Given the description of an element on the screen output the (x, y) to click on. 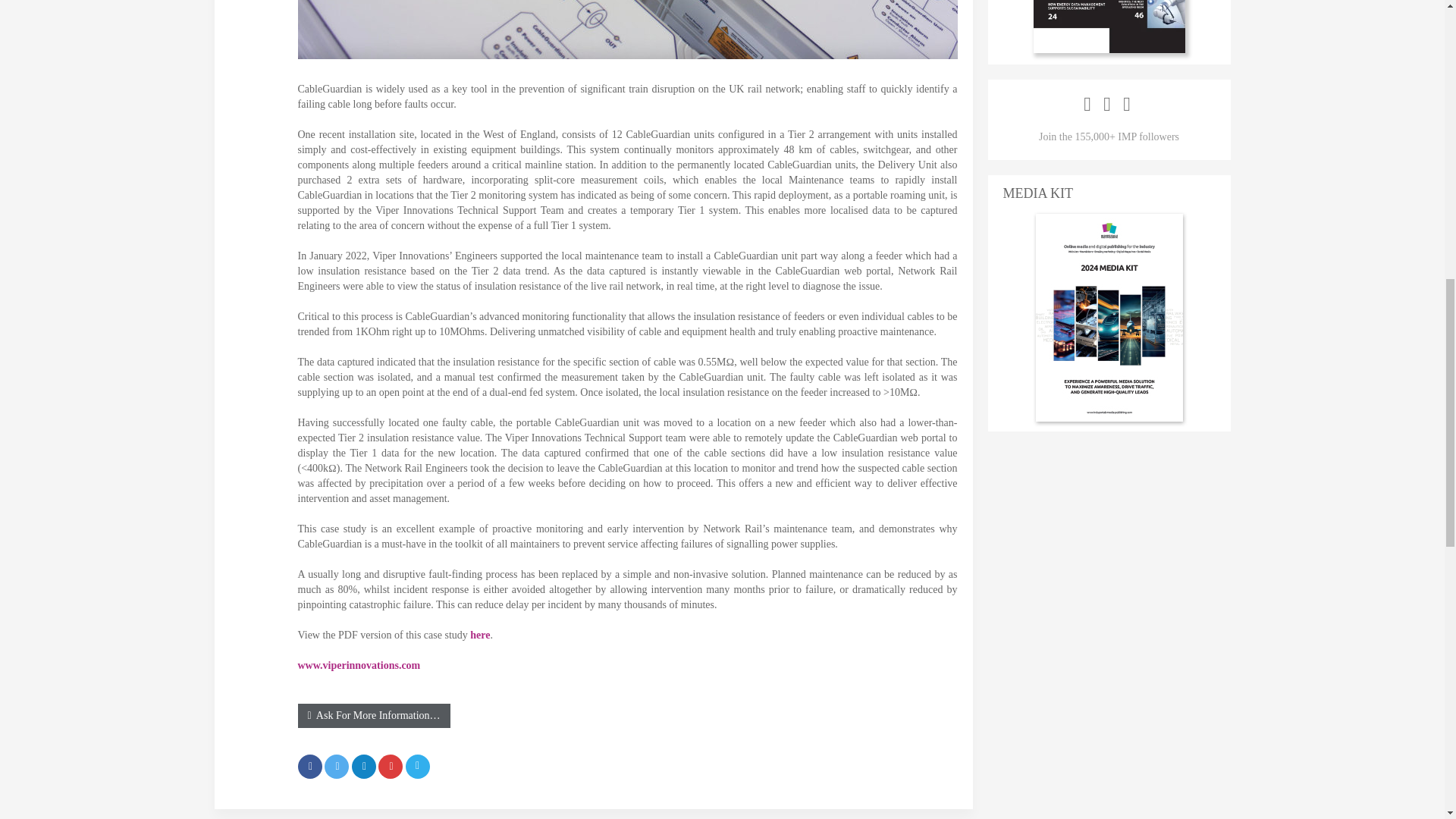
Share on LinkedIn (363, 766)
www.viperinnovations.com (358, 665)
Share on Twitter (336, 766)
Share on Facebook (309, 766)
here (479, 634)
Share on Pinterest (390, 766)
